Given the description of an element on the screen output the (x, y) to click on. 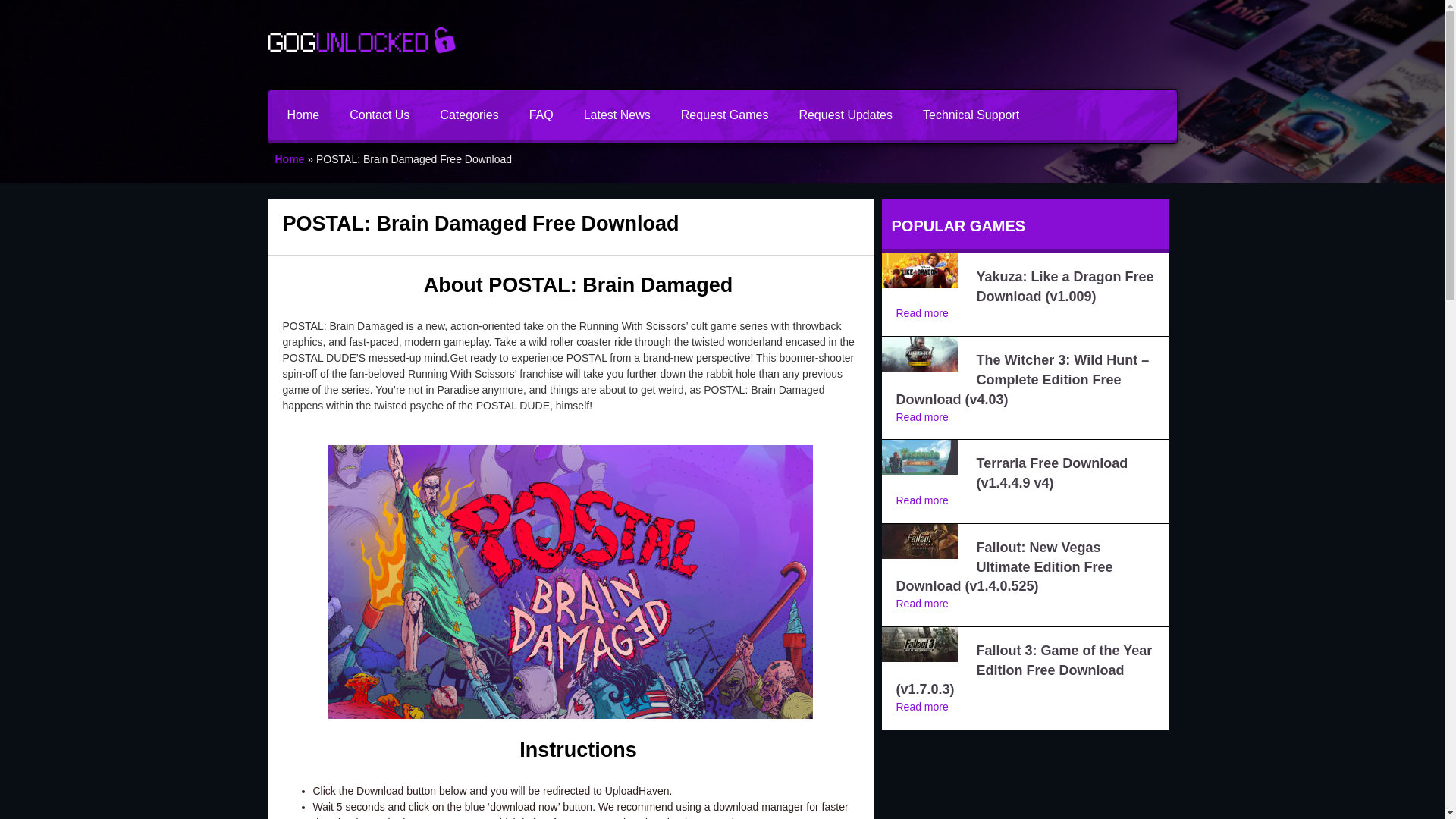
Read more (922, 500)
Contact Us (379, 114)
Latest News (617, 114)
Home (289, 159)
Home (302, 114)
Read more (922, 313)
Read more (922, 603)
Categories (469, 114)
Request Games (724, 114)
Read more (922, 706)
